Given the description of an element on the screen output the (x, y) to click on. 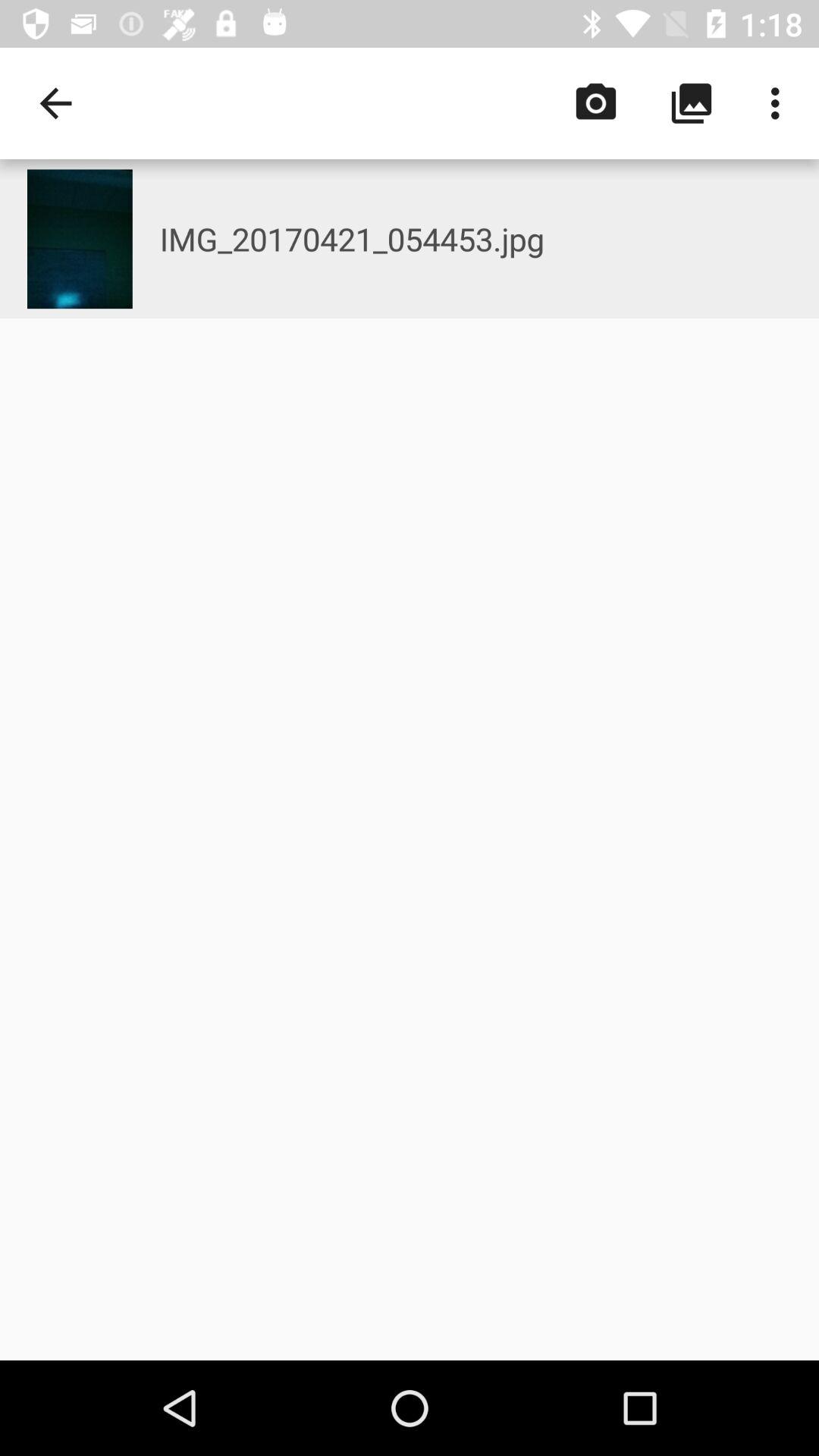
press the item to the left of the img_20170421_054453.jpg icon (79, 238)
